Given the description of an element on the screen output the (x, y) to click on. 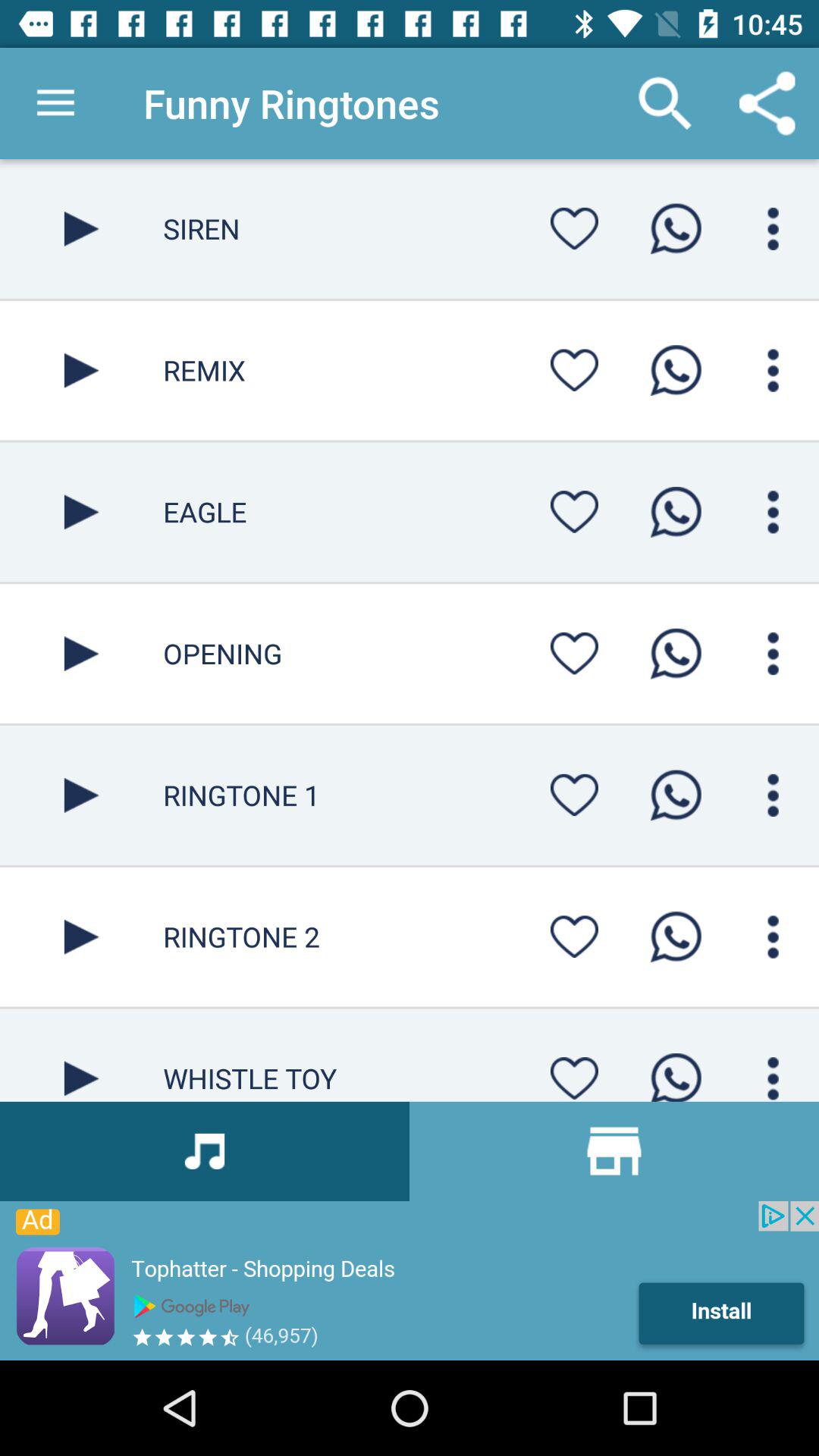
display options for the ringtone (773, 370)
